Given the description of an element on the screen output the (x, y) to click on. 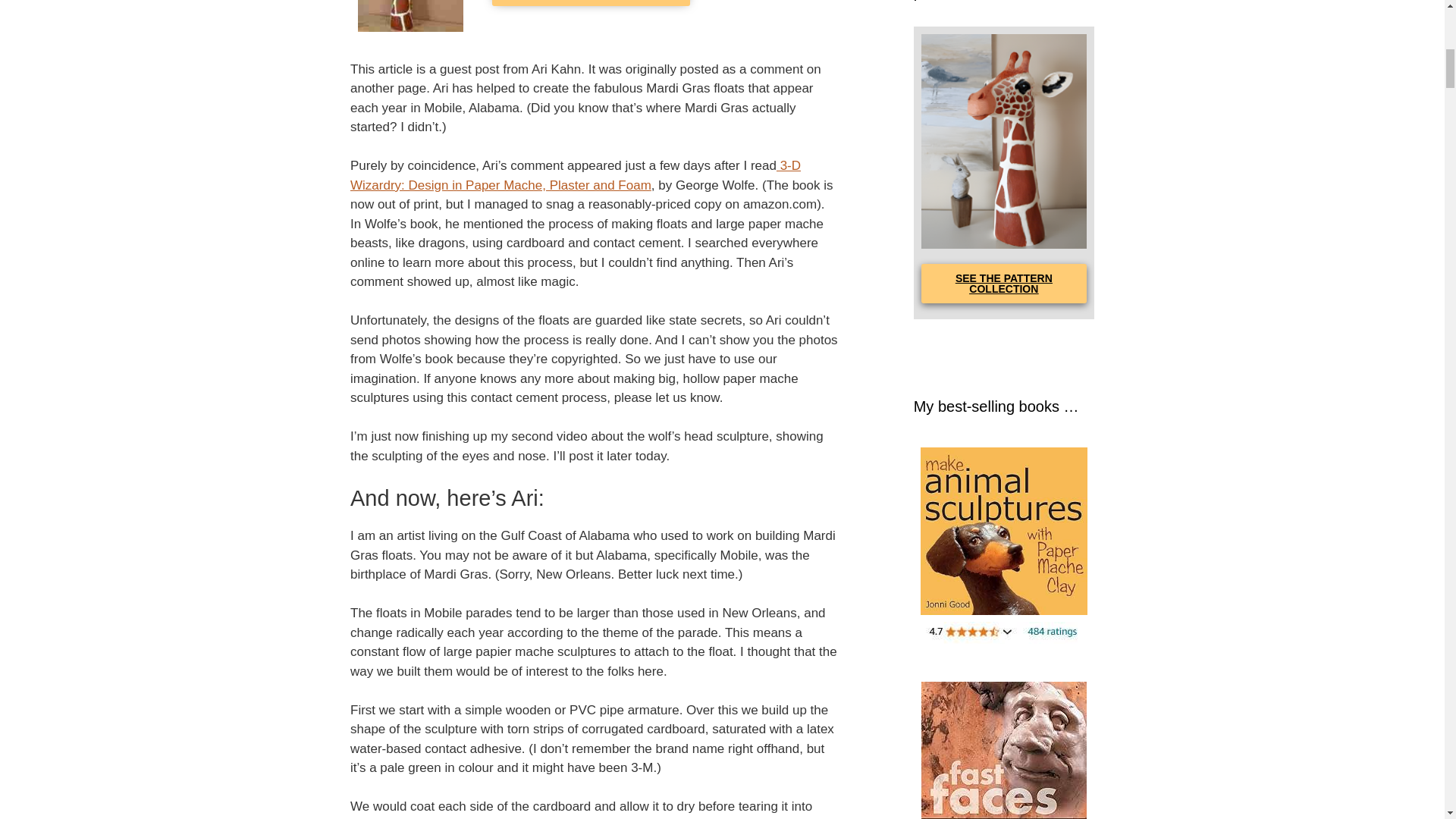
How Mardi Gras Floats are Made in Mobile, Alabama 2 (410, 16)
Click Here for PDF Downoads (591, 2)
3-D Wizardry: Design in Paper Mache, Plaster and Foam (575, 175)
